Given the description of an element on the screen output the (x, y) to click on. 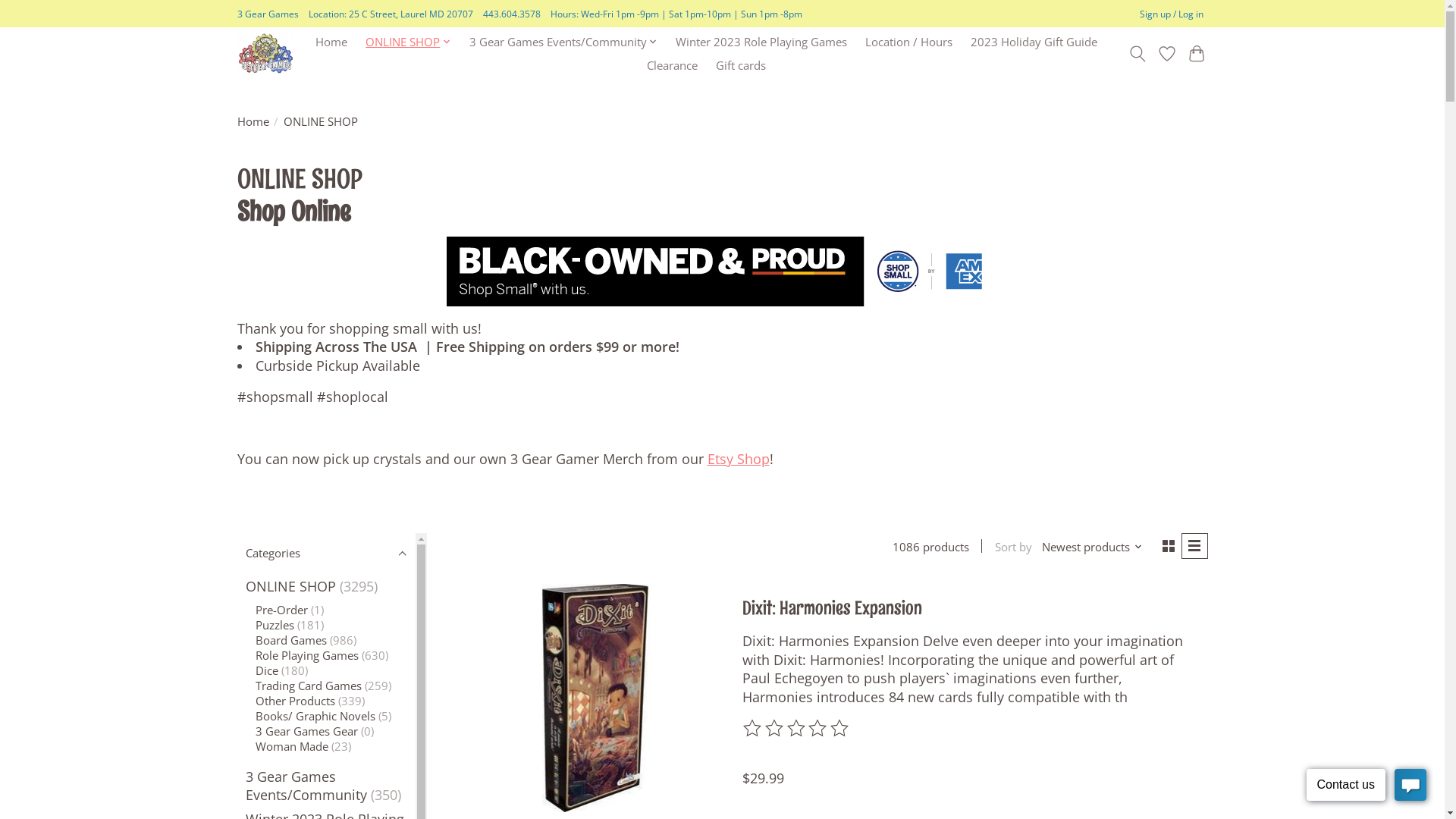
Dixit: Harmonies Expansion Element type: hover (594, 697)
3 Gear Games Events/Community Element type: text (306, 785)
Etsy Shop Element type: text (737, 458)
Books/ Graphic Novels Element type: text (315, 715)
Board Games Element type: text (290, 639)
Dice Element type: text (266, 669)
ONLINE SHOP Element type: text (290, 586)
Pure Chat Live Chat Element type: hover (1366, 786)
Role Playing Games Element type: text (306, 654)
Pre-Order Element type: text (281, 609)
Categories Element type: text (325, 553)
Other Products Element type: text (295, 700)
Clearance Element type: text (671, 65)
ONLINE SHOP Element type: text (408, 41)
Home Element type: text (331, 41)
Trading Card Games Element type: text (308, 685)
Dixit: Harmonies Expansion Element type: text (832, 607)
Winter 2023 Role Playing Games Element type: text (761, 41)
3 Gear Games Element type: hover (264, 53)
3 Gear Games Events/Community Element type: text (563, 41)
Location / Hours Element type: text (908, 41)
Newest products Element type: text (1091, 546)
2023 Holiday Gift Guide Element type: text (1033, 41)
Sign up / Log in Element type: text (1171, 13)
Gift cards Element type: text (740, 65)
Woman Made Element type: text (291, 745)
Puzzles Element type: text (274, 624)
Home Element type: text (252, 120)
3 Gear Games Gear Element type: text (306, 730)
